Given the description of an element on the screen output the (x, y) to click on. 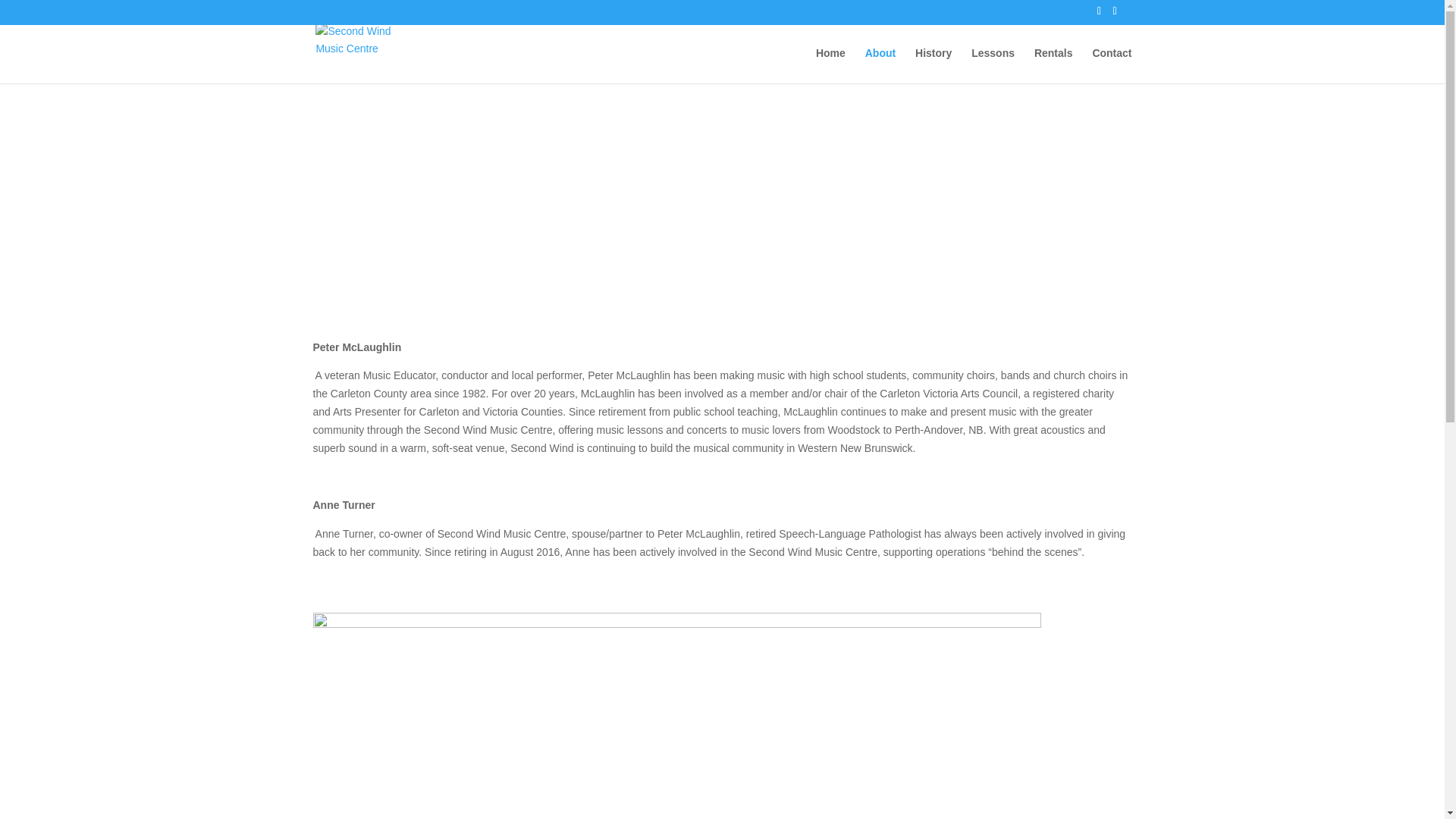
About (879, 65)
Rentals (1053, 65)
Contact (1111, 65)
Home (830, 65)
History (933, 65)
Lessons (992, 65)
